Given the description of an element on the screen output the (x, y) to click on. 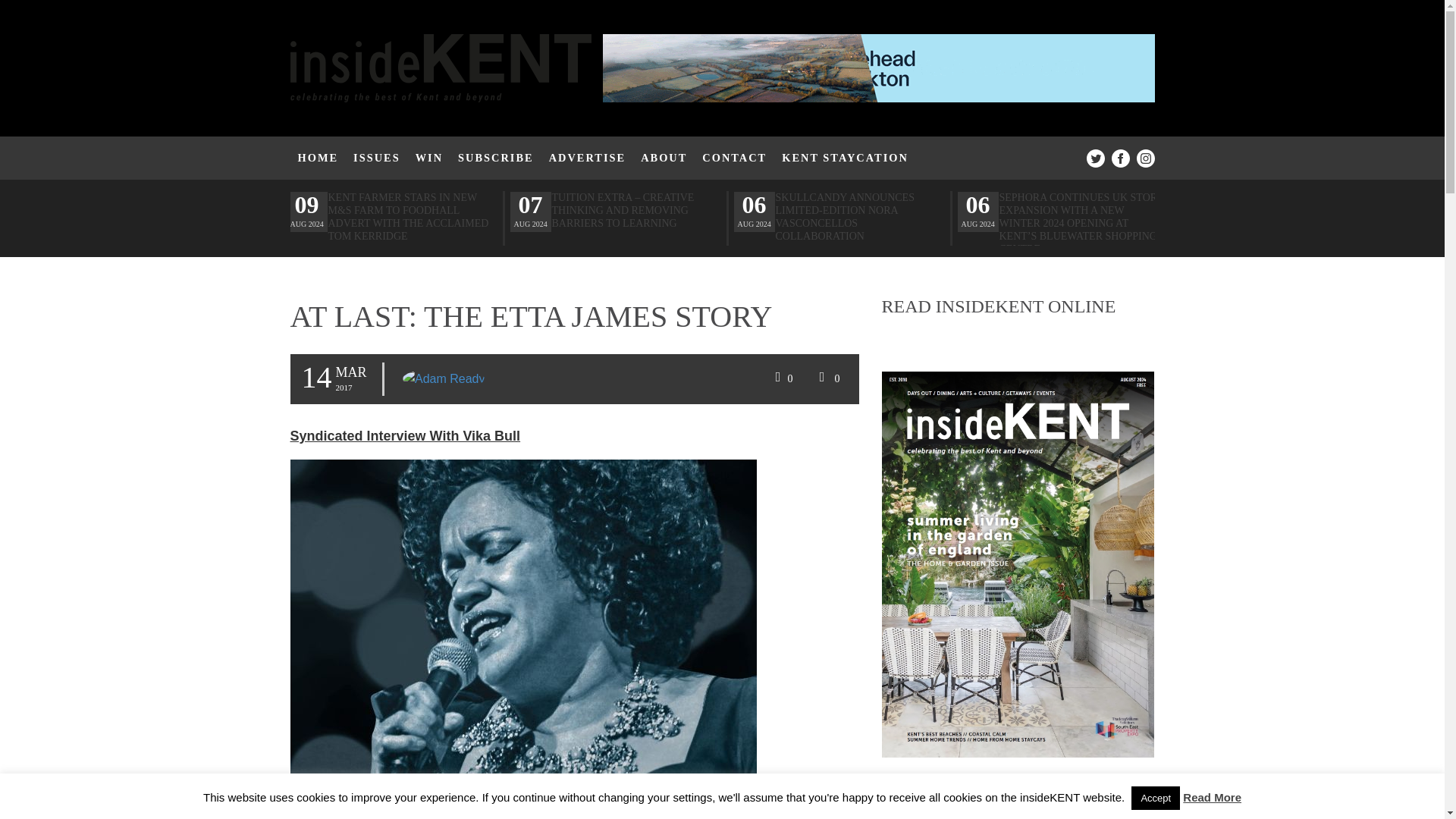
ISSUES (376, 158)
KENT STAYCATION (844, 158)
ADVERTISE (587, 158)
SUBSCRIBE (495, 158)
CONTACT (734, 158)
I like this (781, 378)
HOME (317, 158)
WIN (428, 158)
ABOUT (663, 158)
